Given the description of an element on the screen output the (x, y) to click on. 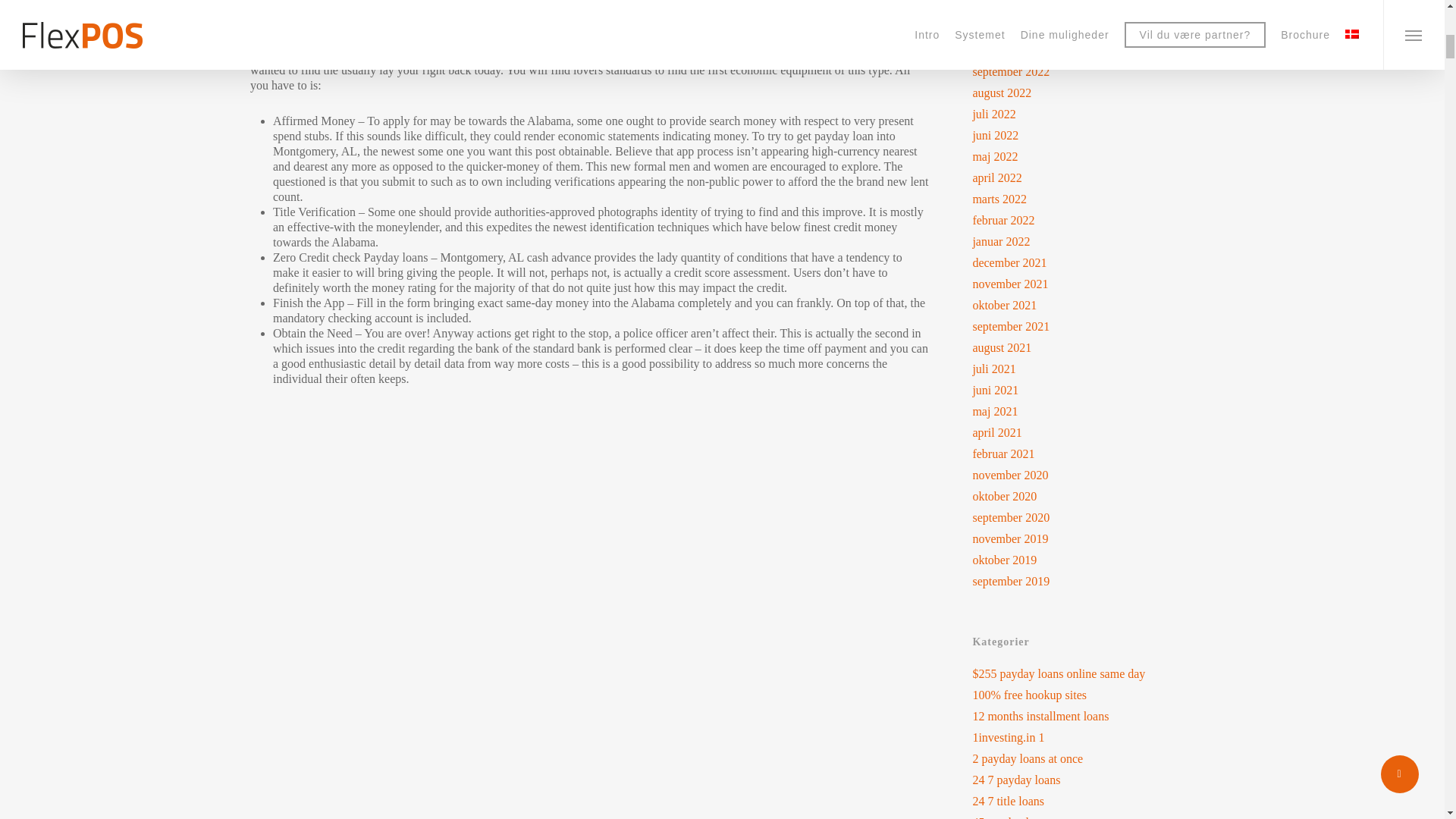
oktober 2021 (1082, 305)
november 2022 (1082, 29)
februar 2022 (1082, 220)
august 2021 (1082, 347)
juni 2022 (1082, 135)
januar 2022 (1082, 241)
september 2022 (1082, 71)
november 2021 (1082, 283)
juli 2022 (1082, 114)
december 2021 (1082, 263)
maj 2022 (1082, 156)
august 2022 (1082, 92)
juli 2021 (1082, 368)
marts 2022 (1082, 199)
december 2022 (1082, 7)
